Given the description of an element on the screen output the (x, y) to click on. 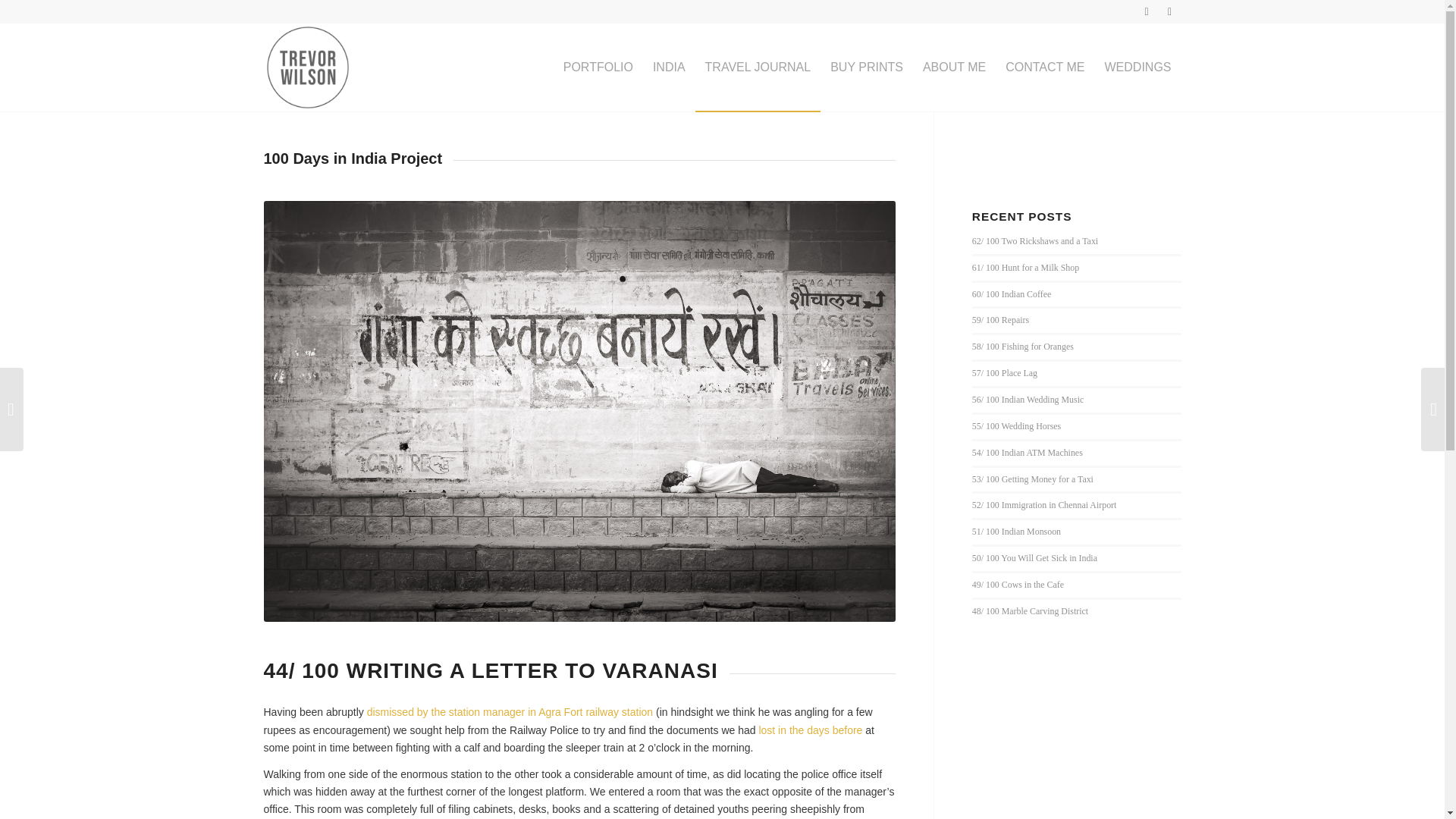
TRAVEL JOURNAL (758, 67)
BUY PRINTS (866, 67)
CONTACT ME (1044, 67)
lost in the days before (809, 729)
X (1146, 11)
Instagram (1169, 11)
WEDDINGS (1137, 67)
PORTFOLIO (598, 67)
